Given the description of an element on the screen output the (x, y) to click on. 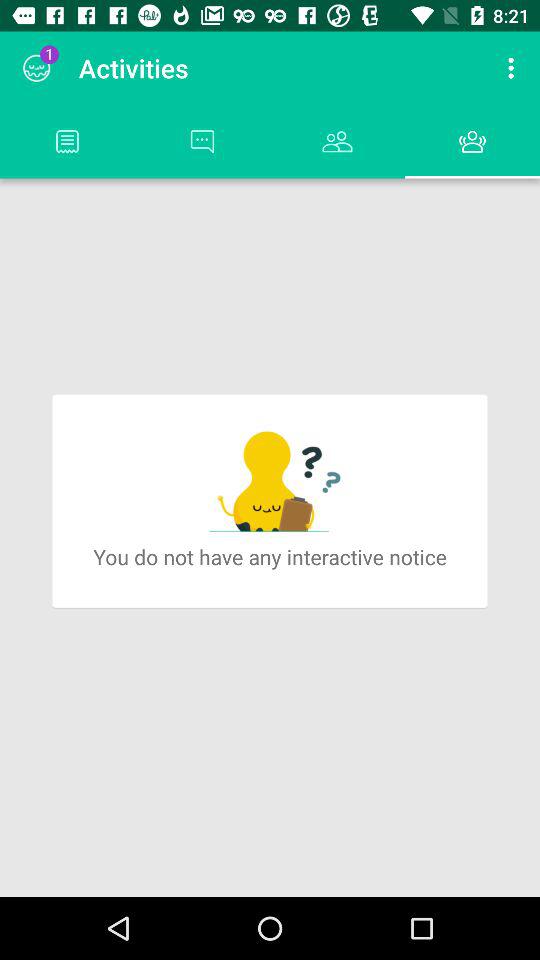
turn off the item to the left of activities icon (36, 68)
